Given the description of an element on the screen output the (x, y) to click on. 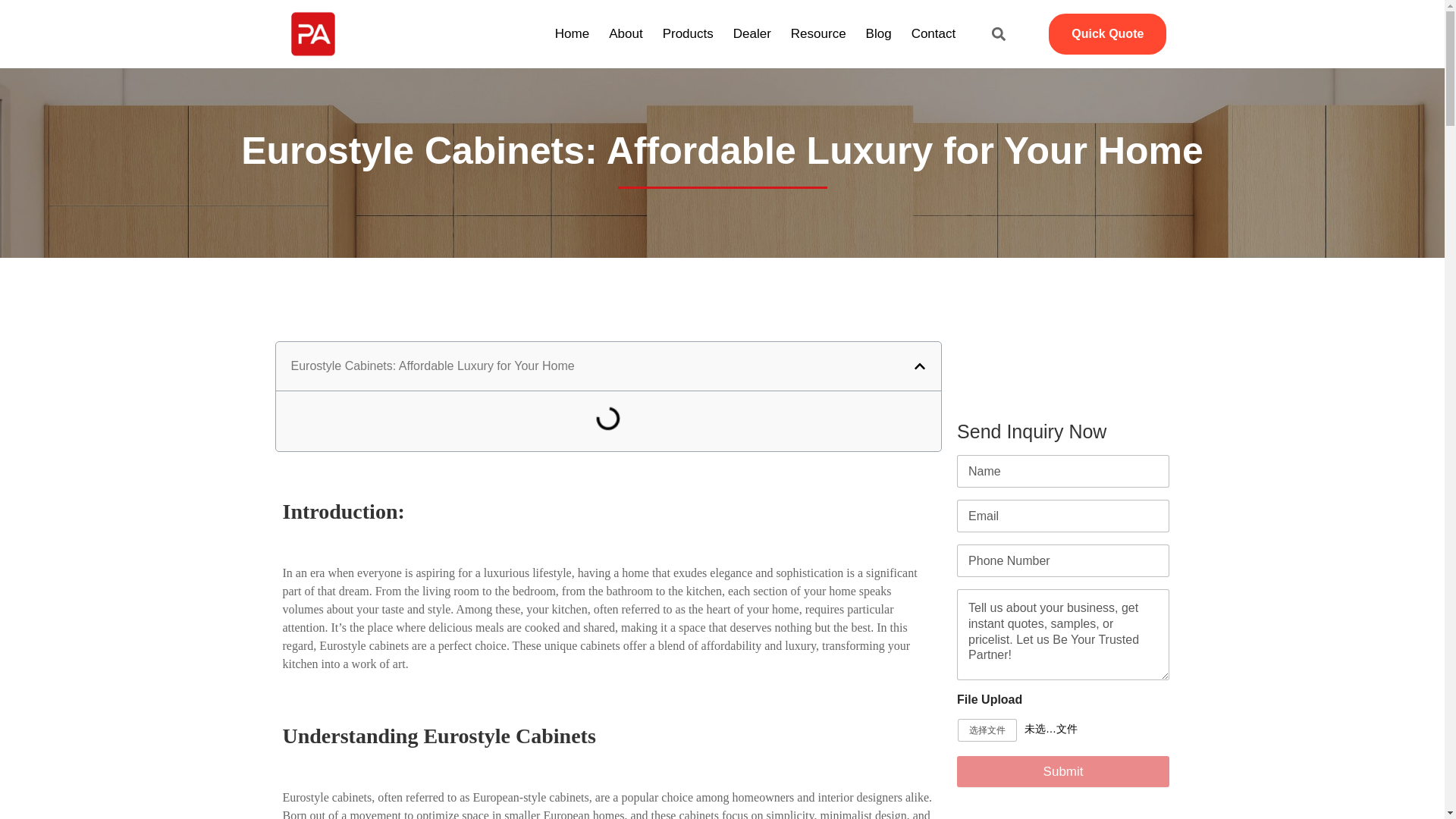
Resource (818, 33)
Products (688, 33)
Home (572, 33)
Contact (933, 33)
Dealer (751, 33)
About (626, 33)
